Given the description of an element on the screen output the (x, y) to click on. 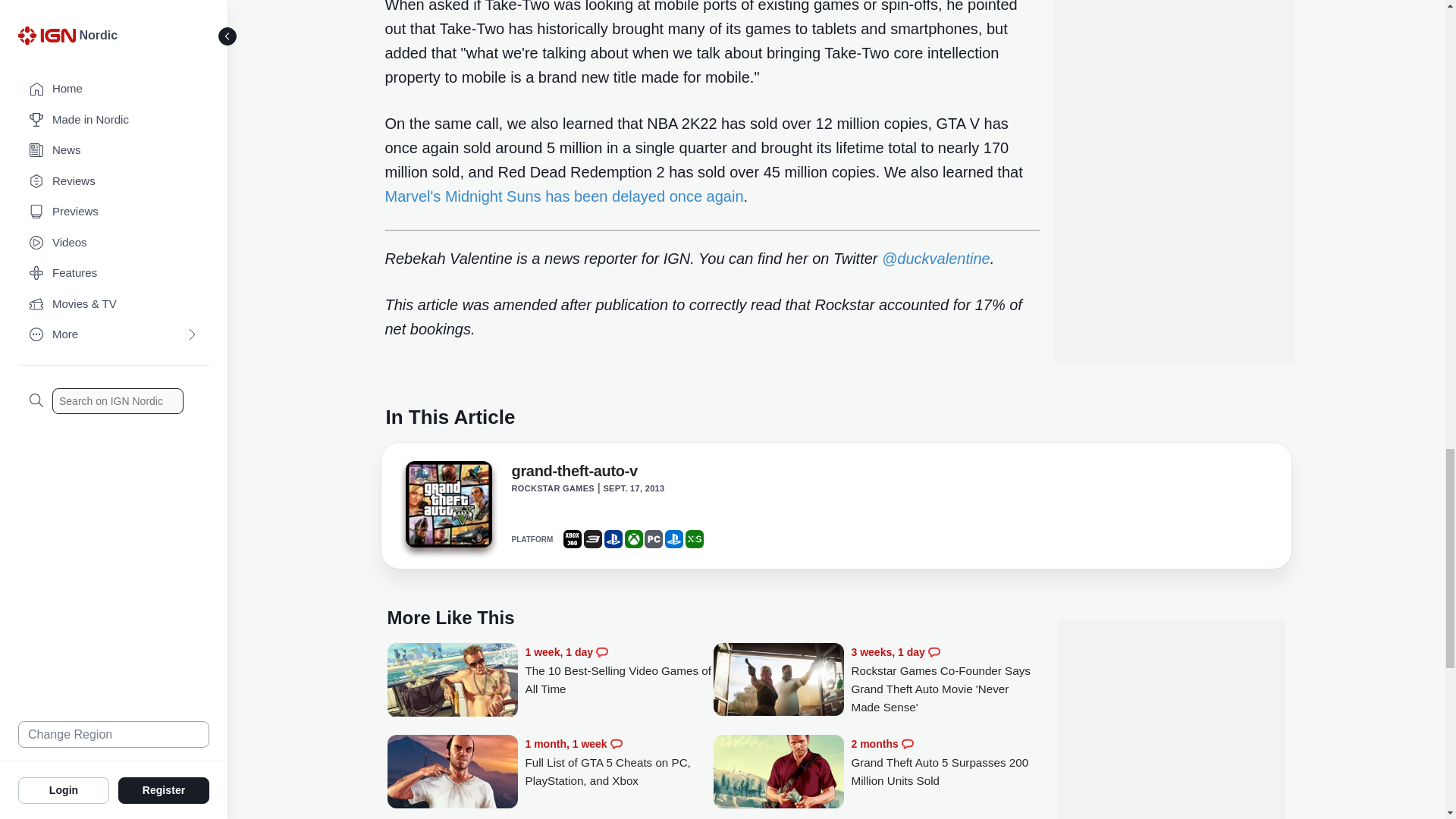
grand-theft-auto-v (448, 509)
PC (653, 538)
grand-theft-auto-v (448, 504)
Full List of GTA 5 Cheats on PC, PlayStation, and Xbox (451, 772)
Grand Theft Auto 5 Surpasses 200 Million Units Sold (778, 772)
Full List of GTA 5 Cheats on PC, PlayStation, and Xbox (618, 762)
XBOXONE (633, 538)
PS3 (592, 538)
Marvel's Midnight Suns has been delayed once again (564, 196)
Grand Theft Auto 5 Surpasses 200 Million Units Sold (944, 762)
The 10 Best-Selling Video Games of All Time (618, 670)
grand-theft-auto-v (574, 473)
PS4 (613, 538)
